Given the description of an element on the screen output the (x, y) to click on. 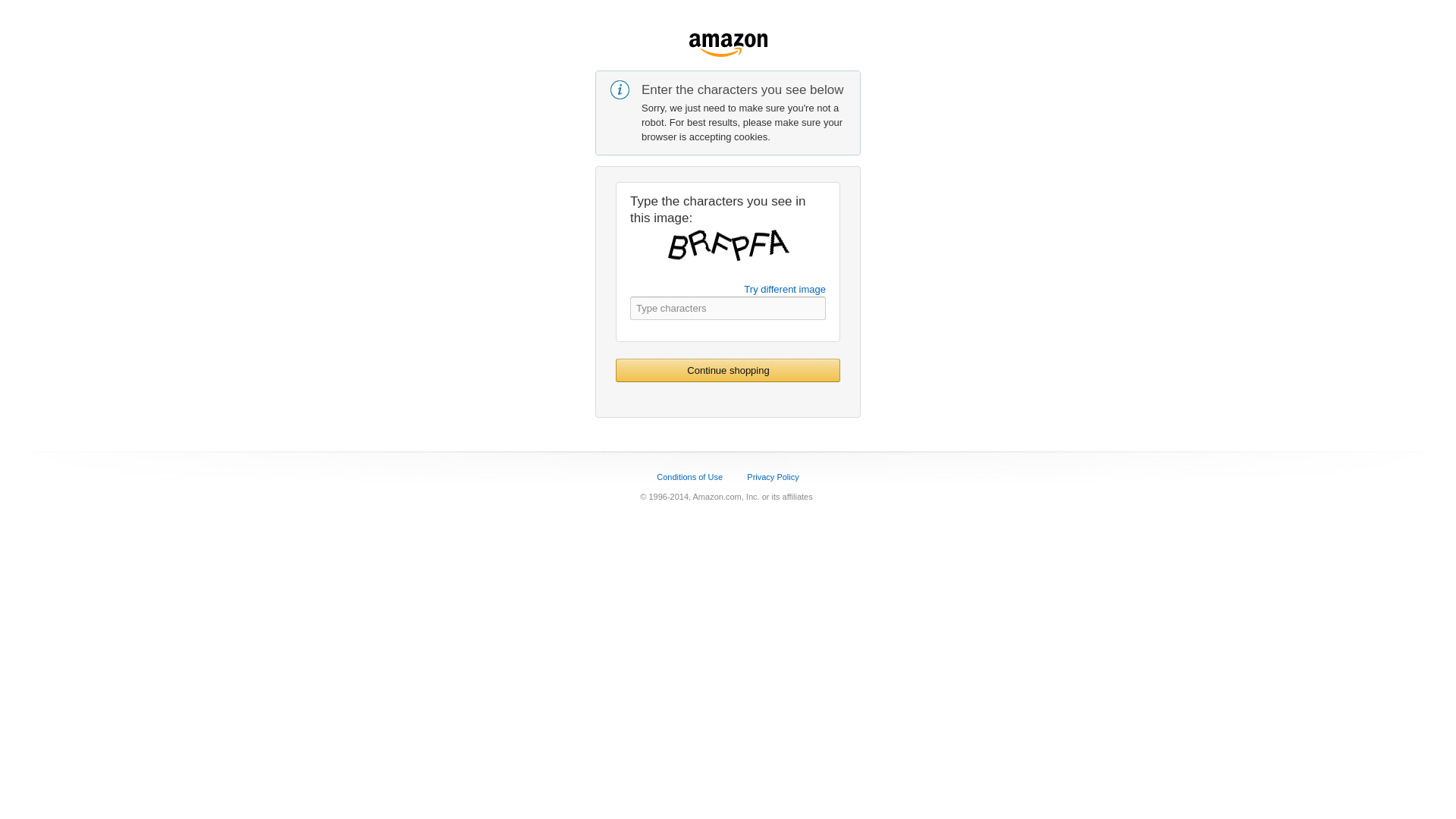
Conditions of Use (689, 476)
Try different image (784, 288)
Continue shopping (727, 370)
Privacy Policy (771, 476)
